Given the description of an element on the screen output the (x, y) to click on. 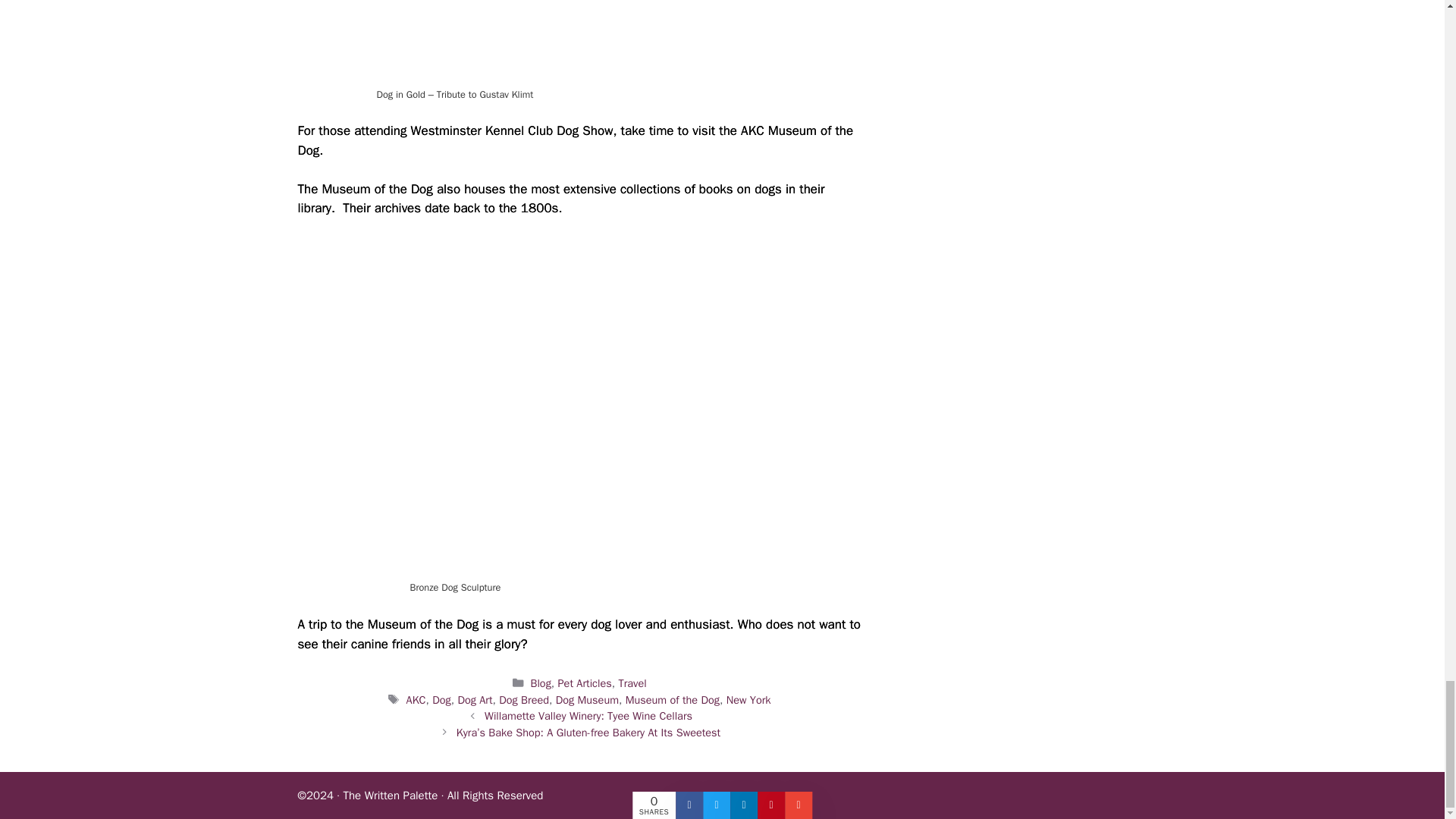
Dog (441, 699)
AKC (416, 699)
Dog Art (474, 699)
Dog Breed (523, 699)
Museum of the Dog (672, 699)
Pet Articles (584, 683)
Willamette Valley Winery: Tyee Wine Cellars (588, 715)
New York (748, 699)
Travel (631, 683)
Dog Museum (587, 699)
Blog (539, 683)
